Given the description of an element on the screen output the (x, y) to click on. 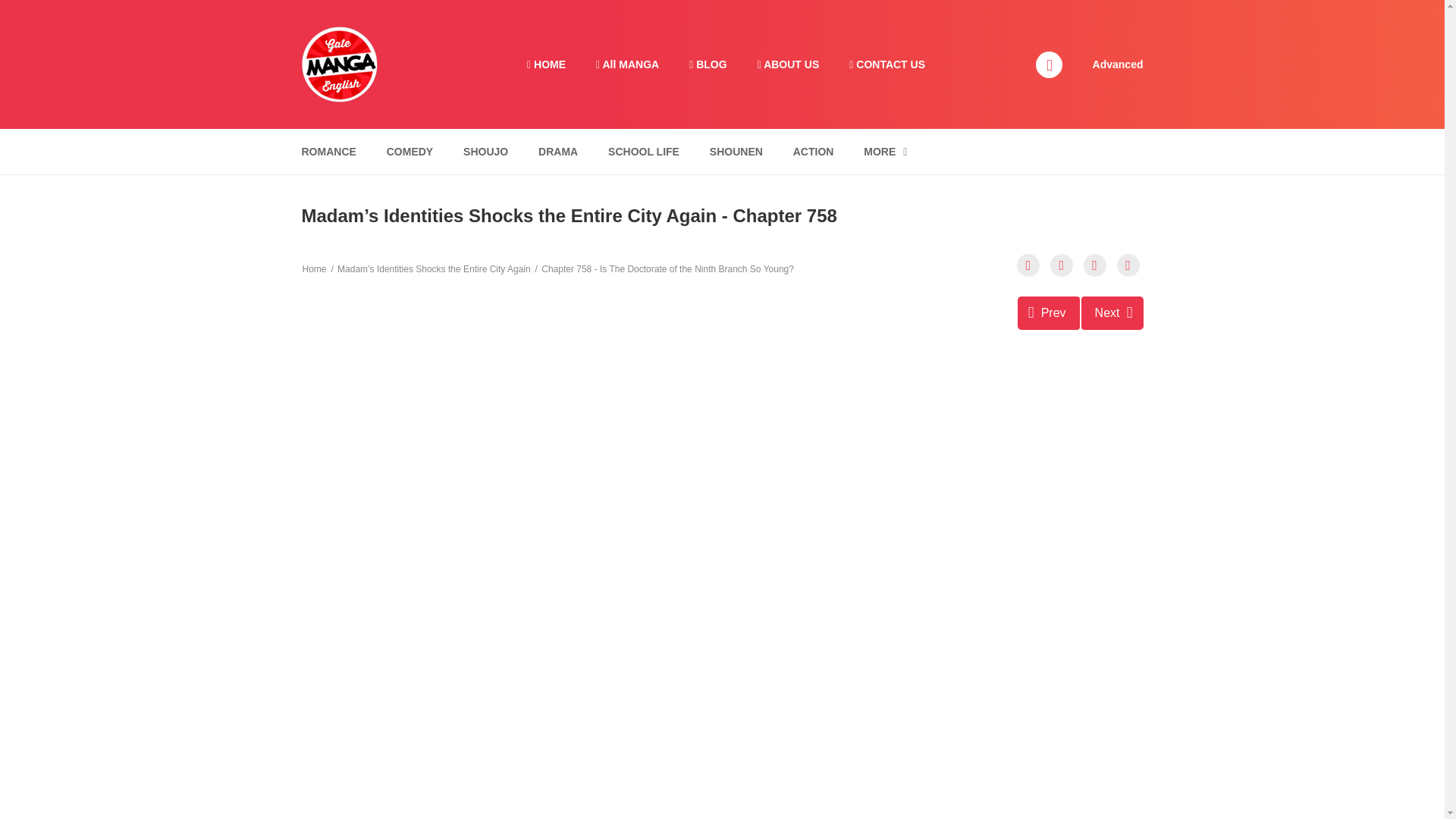
Chapter 757 (1048, 313)
Chapter 759 (1111, 313)
ACTION (813, 151)
Bookmark (1094, 264)
Gate Manga (339, 63)
SHOUNEN (736, 151)
ROMANCE (328, 151)
CONTACT US (887, 64)
SHOUJO (485, 151)
Search (970, 9)
